Given the description of an element on the screen output the (x, y) to click on. 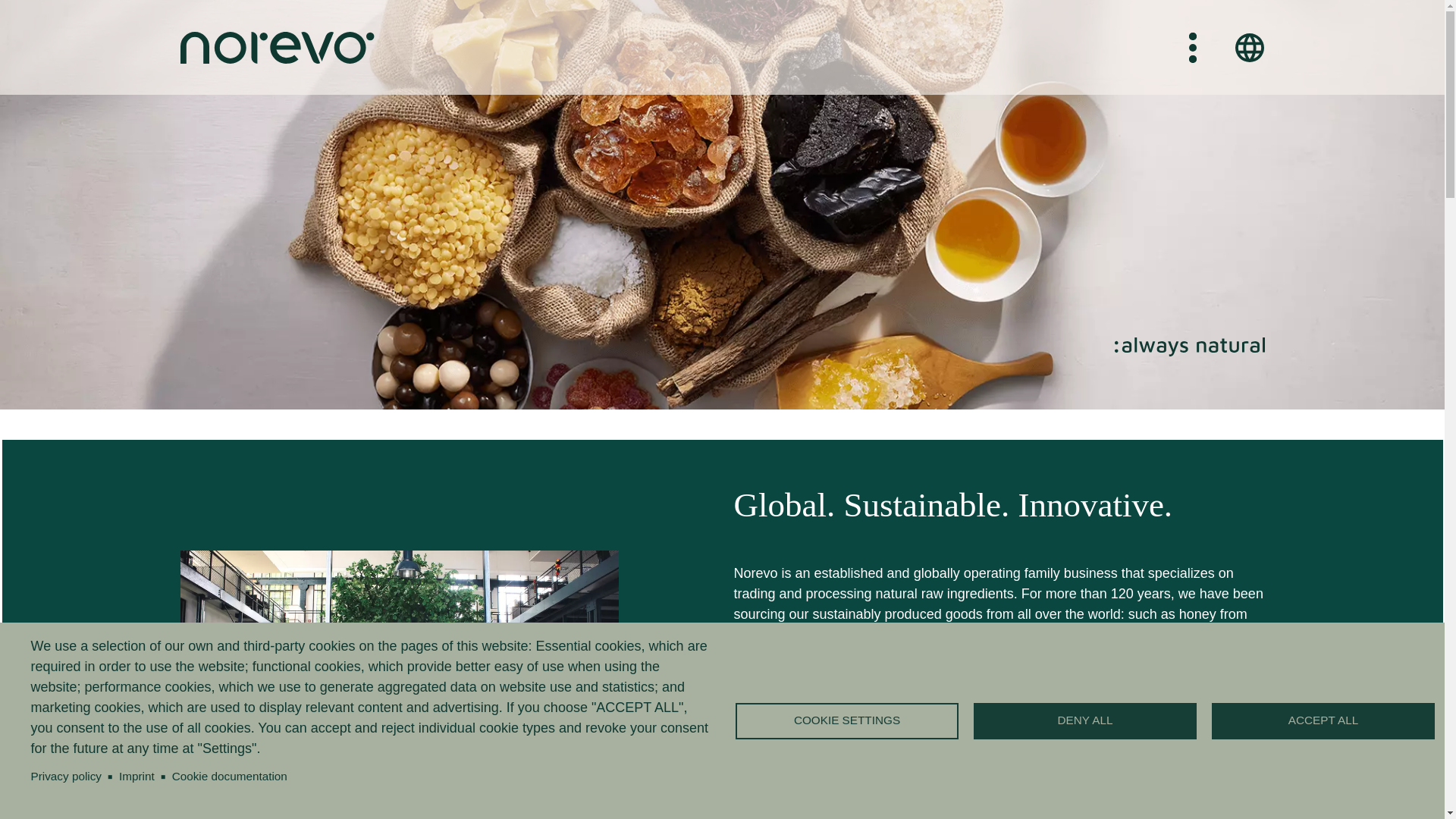
Imprint (136, 776)
NOREVO IMAGE-BROCHURE (849, 683)
Privacy policy (65, 776)
ACCEPT ALL (1323, 720)
COOKIE SETTINGS (847, 720)
DENY ALL (1085, 720)
Cookie documentation (228, 776)
